Given the description of an element on the screen output the (x, y) to click on. 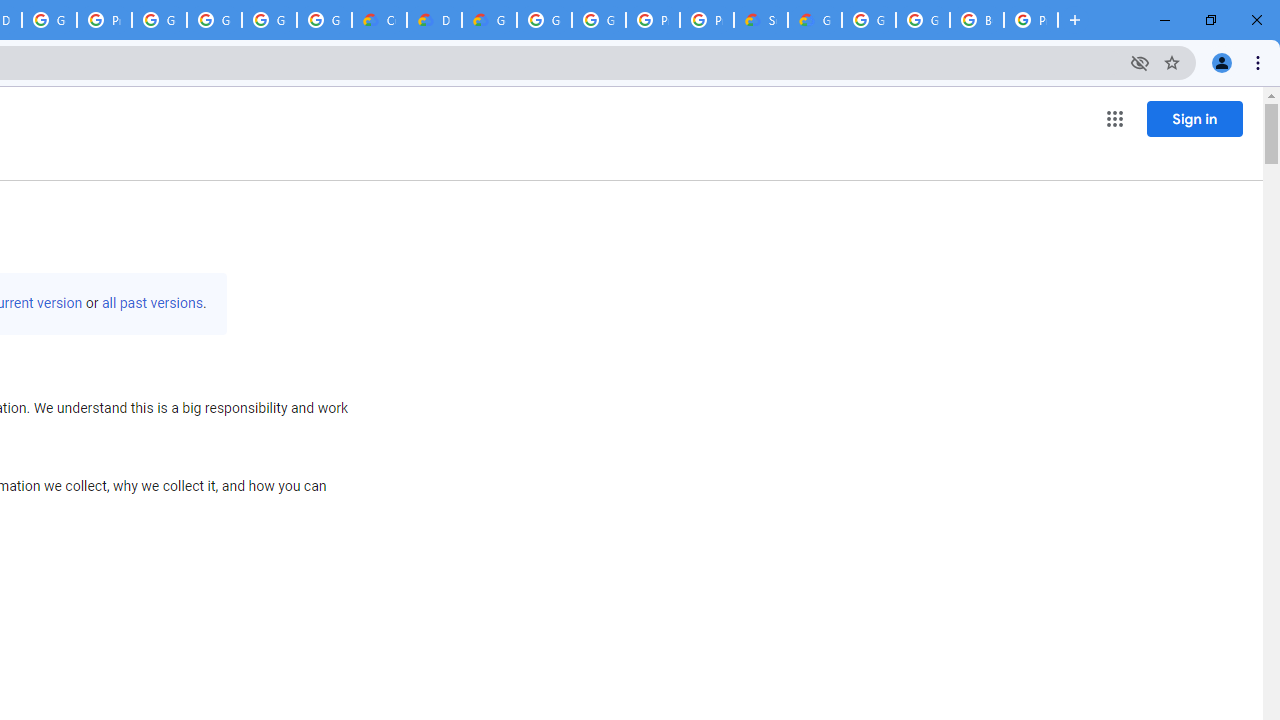
Google Cloud Platform (598, 20)
Customer Care | Google Cloud (379, 20)
Google Cloud Service Health (815, 20)
Google Cloud Platform (868, 20)
Gemini for Business and Developers | Google Cloud (489, 20)
Google Cloud Platform (544, 20)
Google Cloud Platform (922, 20)
